Given the description of an element on the screen output the (x, y) to click on. 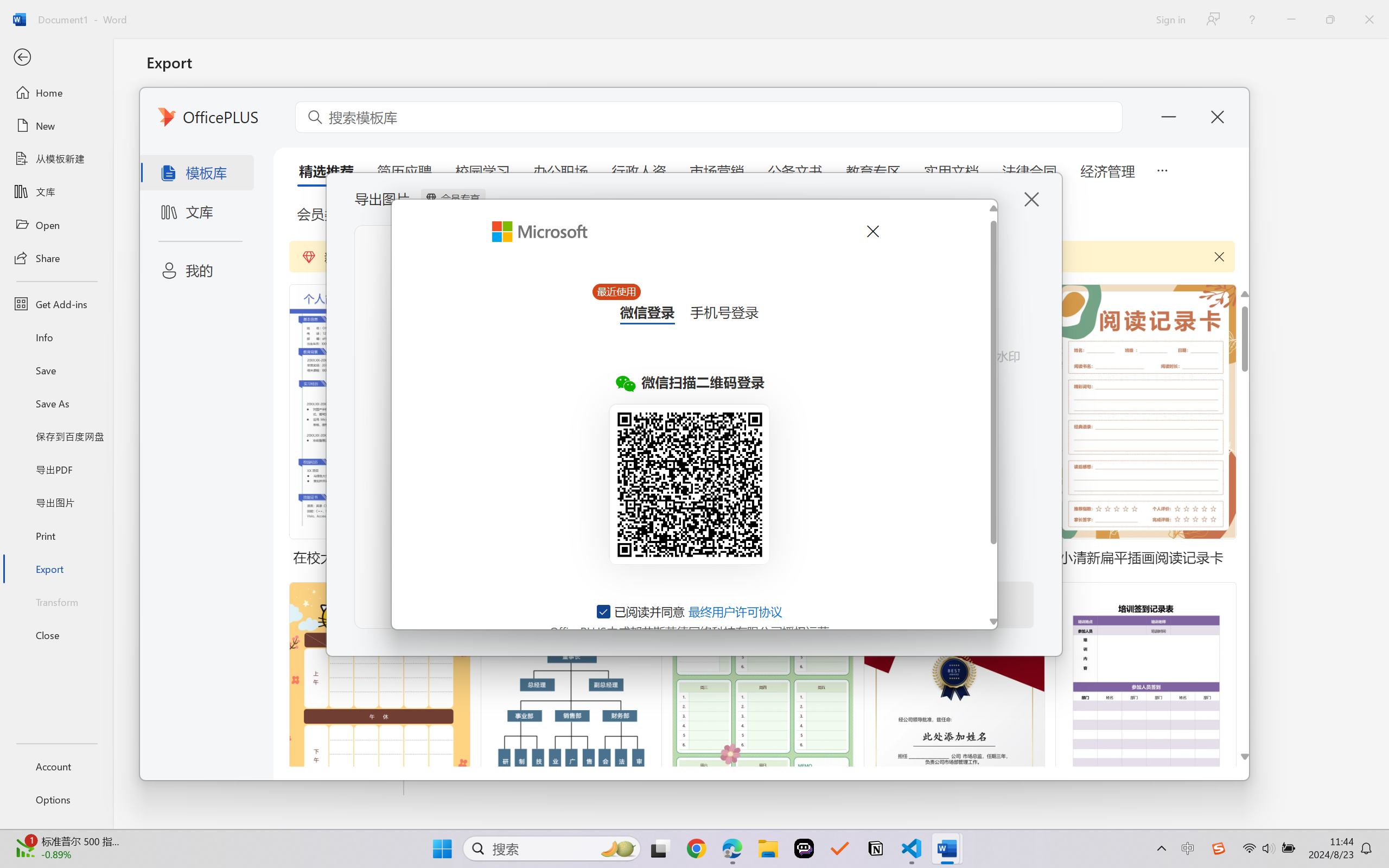
Info (56, 337)
AutomationID: checkbox-14 (604, 611)
5 more tabs (1161, 169)
Sign in (1170, 18)
Account (56, 765)
